Given the description of an element on the screen output the (x, y) to click on. 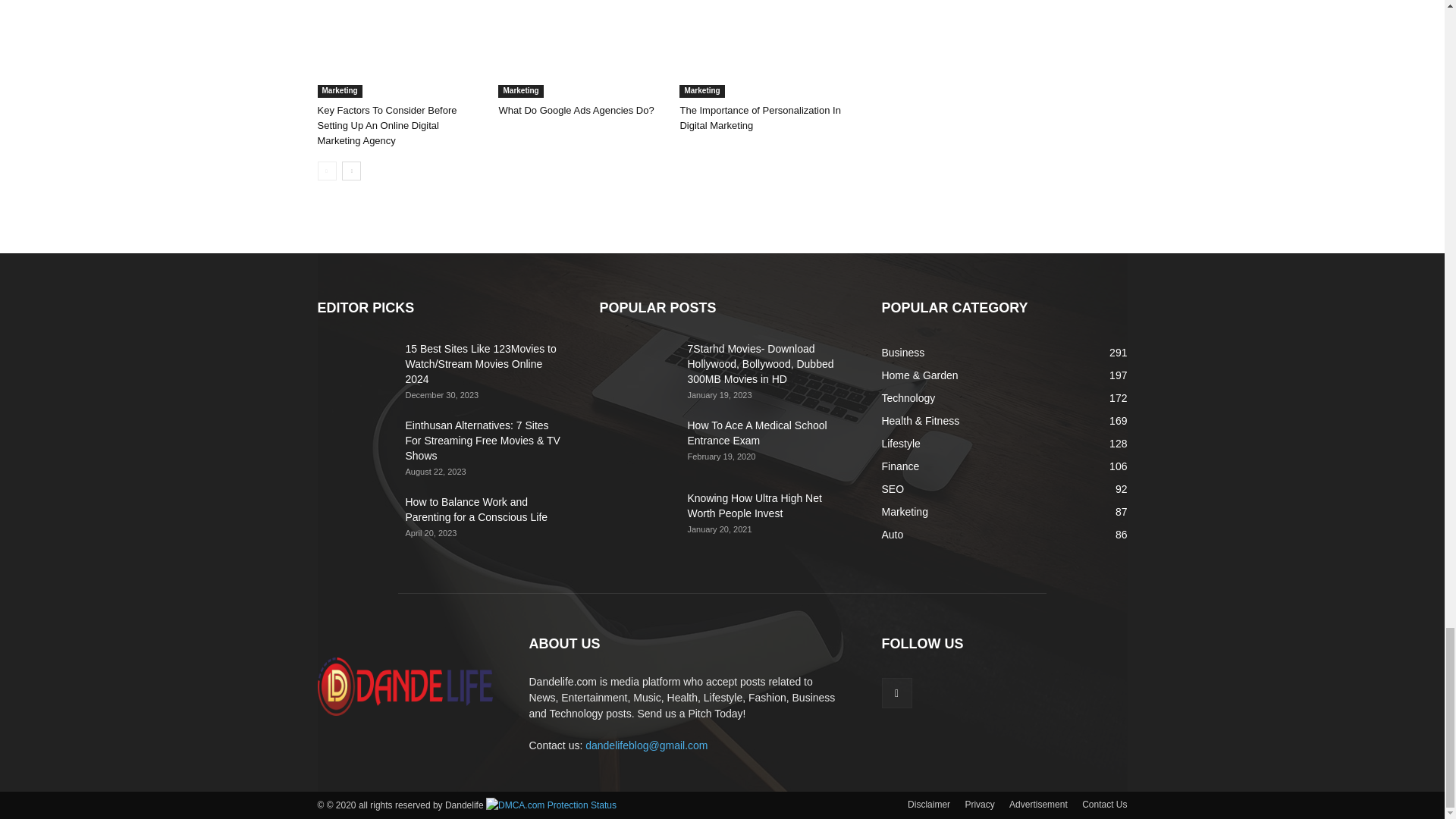
What Do Google Ads Agencies Do? (580, 49)
The Importance of Personalization In Digital Marketing (761, 49)
What Do Google Ads Agencies Do? (575, 110)
